Given the description of an element on the screen output the (x, y) to click on. 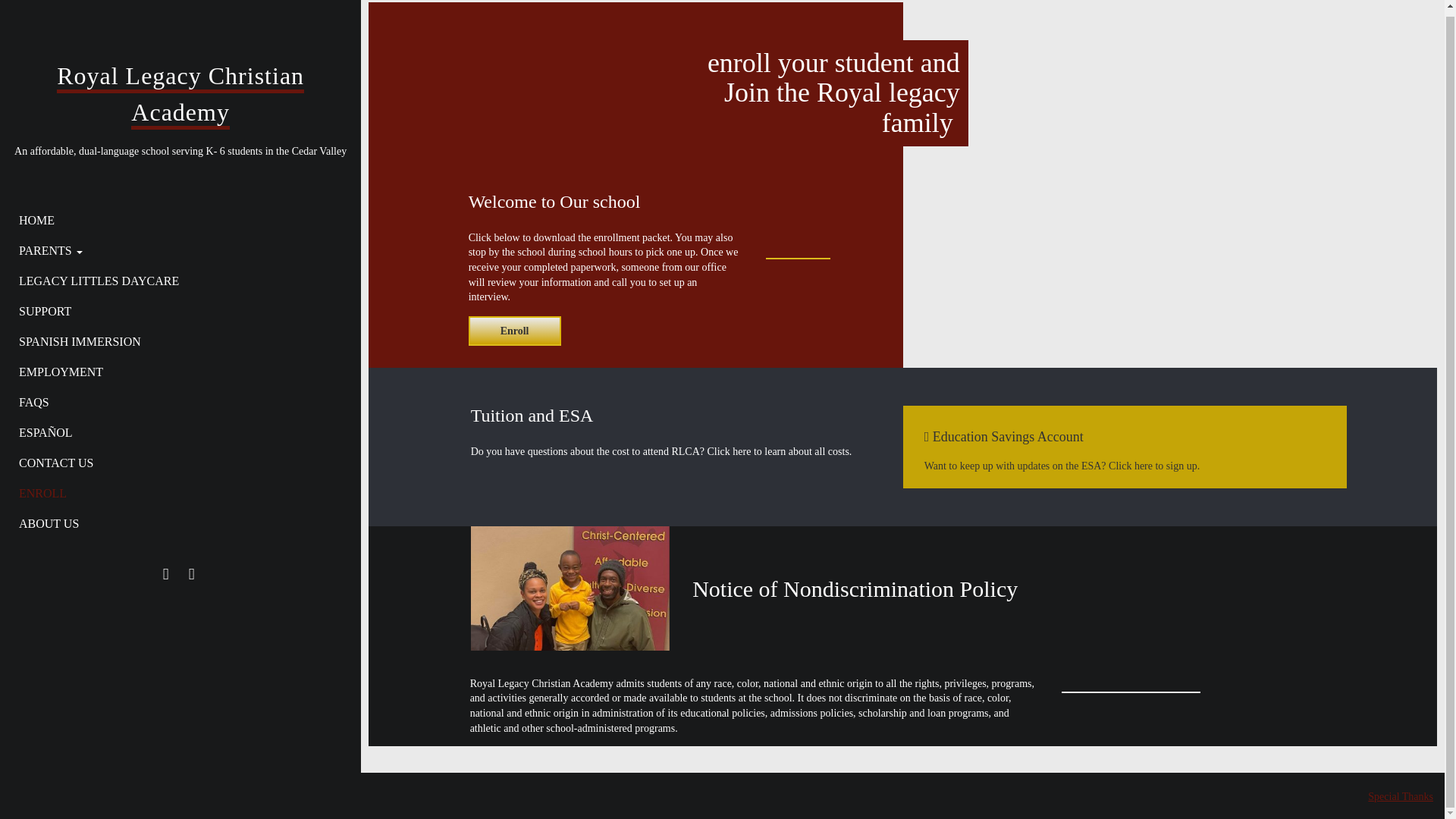
ENROLL (174, 488)
Parents (174, 245)
EMPLOYMENT (174, 367)
CONTACT US (174, 458)
FAQs (174, 397)
PARENTS (174, 245)
Employment (174, 367)
Special Thanks (1400, 796)
Royal Legacy Christian Academy (180, 90)
HOME (174, 214)
About Us (174, 518)
LEGACY LITTLES DAYCARE (174, 276)
Support (174, 306)
Contact Us (174, 458)
SUPPORT (174, 306)
